Given the description of an element on the screen output the (x, y) to click on. 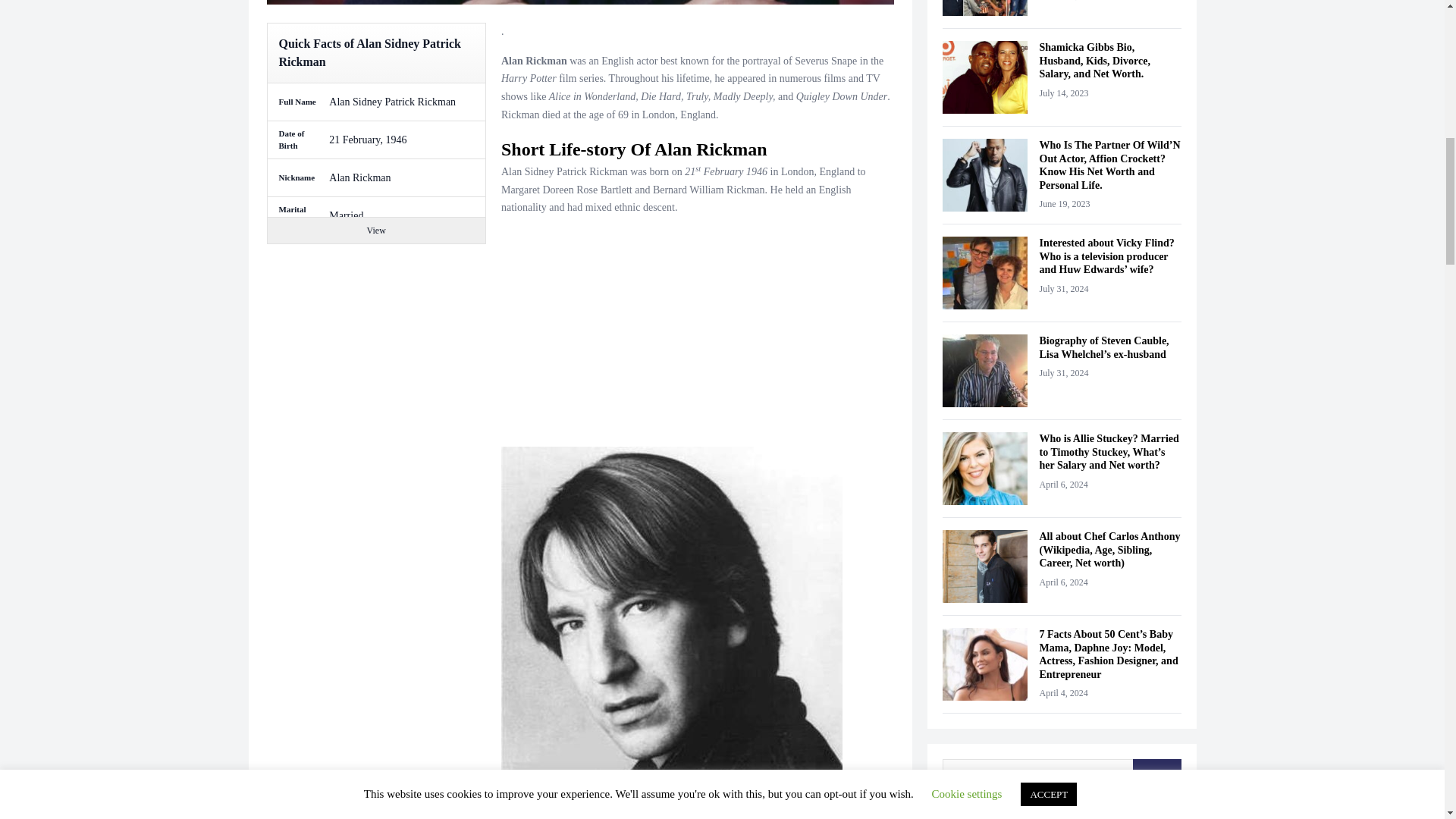
Search (1156, 776)
Search (1156, 776)
Advertisement (696, 334)
